Given the description of an element on the screen output the (x, y) to click on. 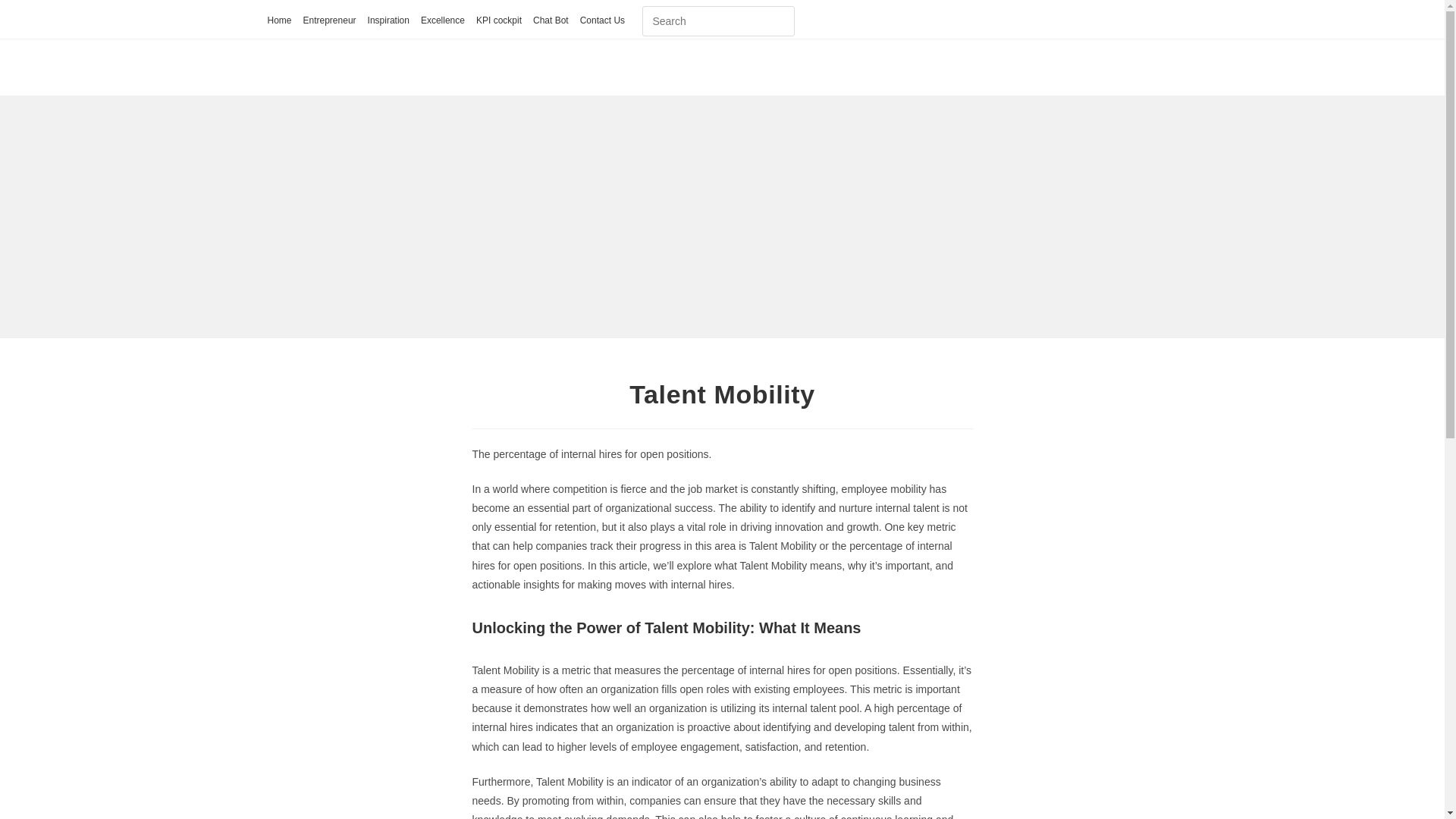
Contact Us (601, 21)
Home (278, 21)
Excellence (442, 21)
Inspiration (388, 21)
Entrepreneur (329, 21)
Chat Bot (550, 21)
KPI cockpit (498, 21)
